Given the description of an element on the screen output the (x, y) to click on. 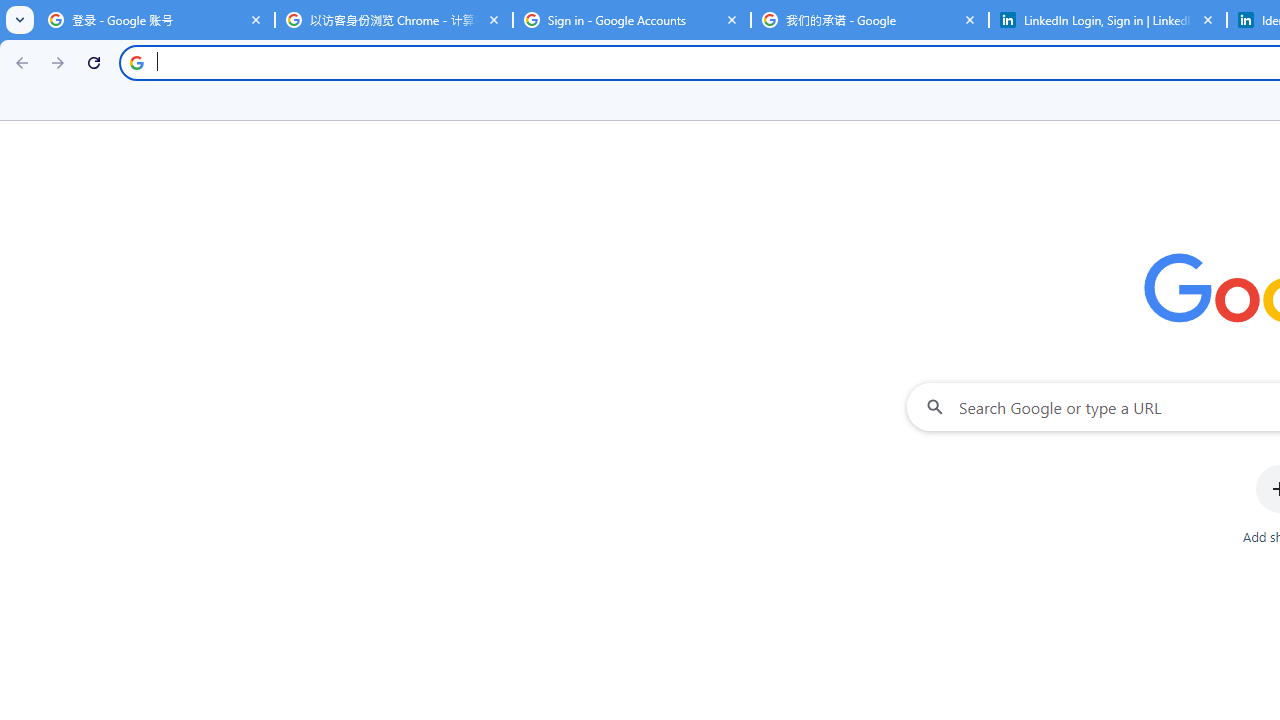
Sign in - Google Accounts (632, 20)
Forward (57, 62)
System (10, 11)
Search tabs (20, 20)
Search icon (136, 62)
Reload (93, 62)
Back (19, 62)
Close (1208, 19)
LinkedIn Login, Sign in | LinkedIn (1108, 20)
System (10, 11)
